Given the description of an element on the screen output the (x, y) to click on. 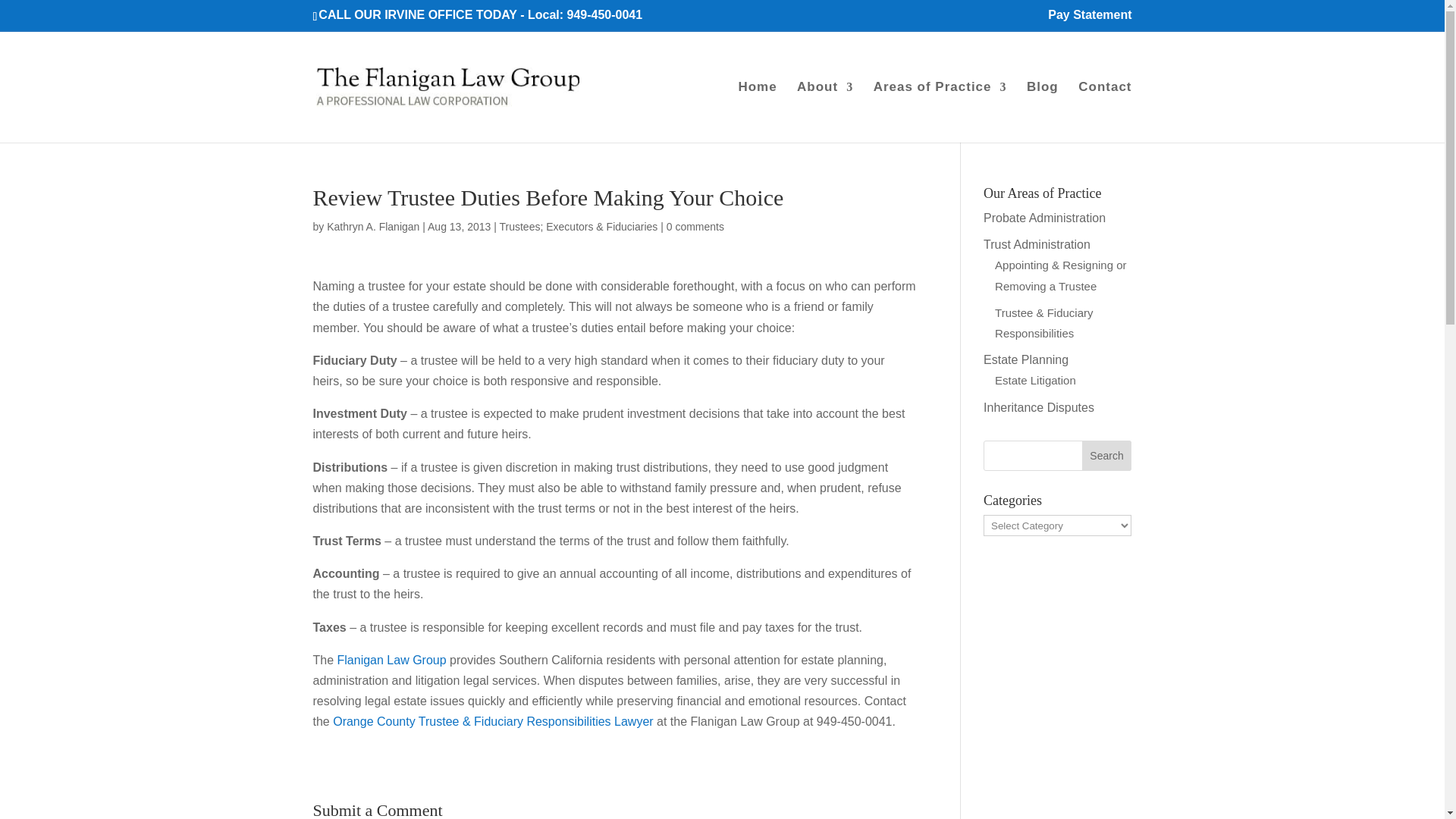
0 comments (694, 226)
Posts by Kathryn A. Flanigan (372, 226)
Local: 949-450-0041 (584, 14)
Kathryn A. Flanigan (372, 226)
Flanigan Law Group (391, 659)
Pay Statement (1089, 19)
About (824, 111)
Search (1106, 455)
Areas of Practice (940, 111)
